Given the description of an element on the screen output the (x, y) to click on. 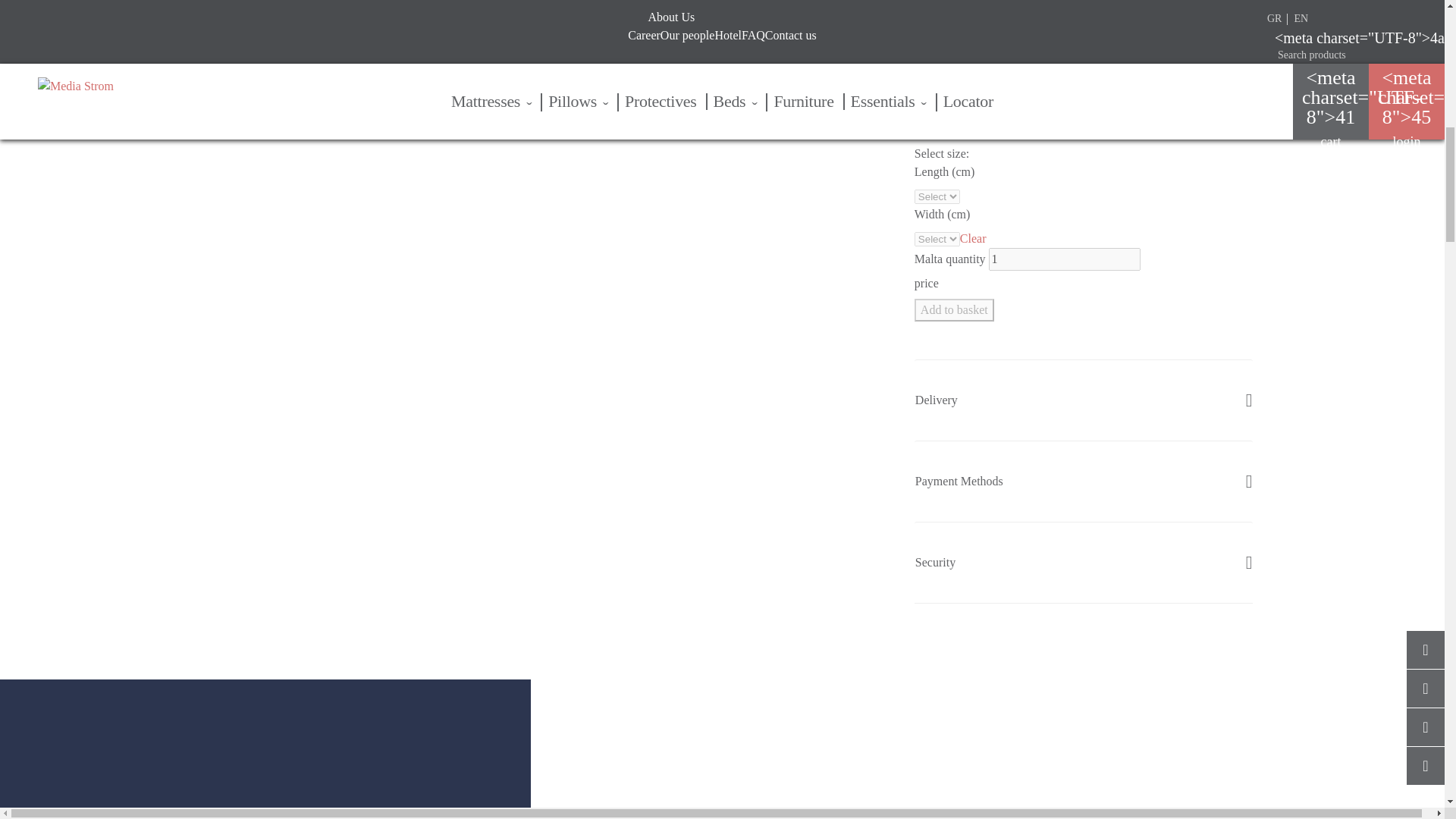
1 (1064, 259)
Qty (1064, 259)
BedStorizzz (265, 749)
